Given the description of an element on the screen output the (x, y) to click on. 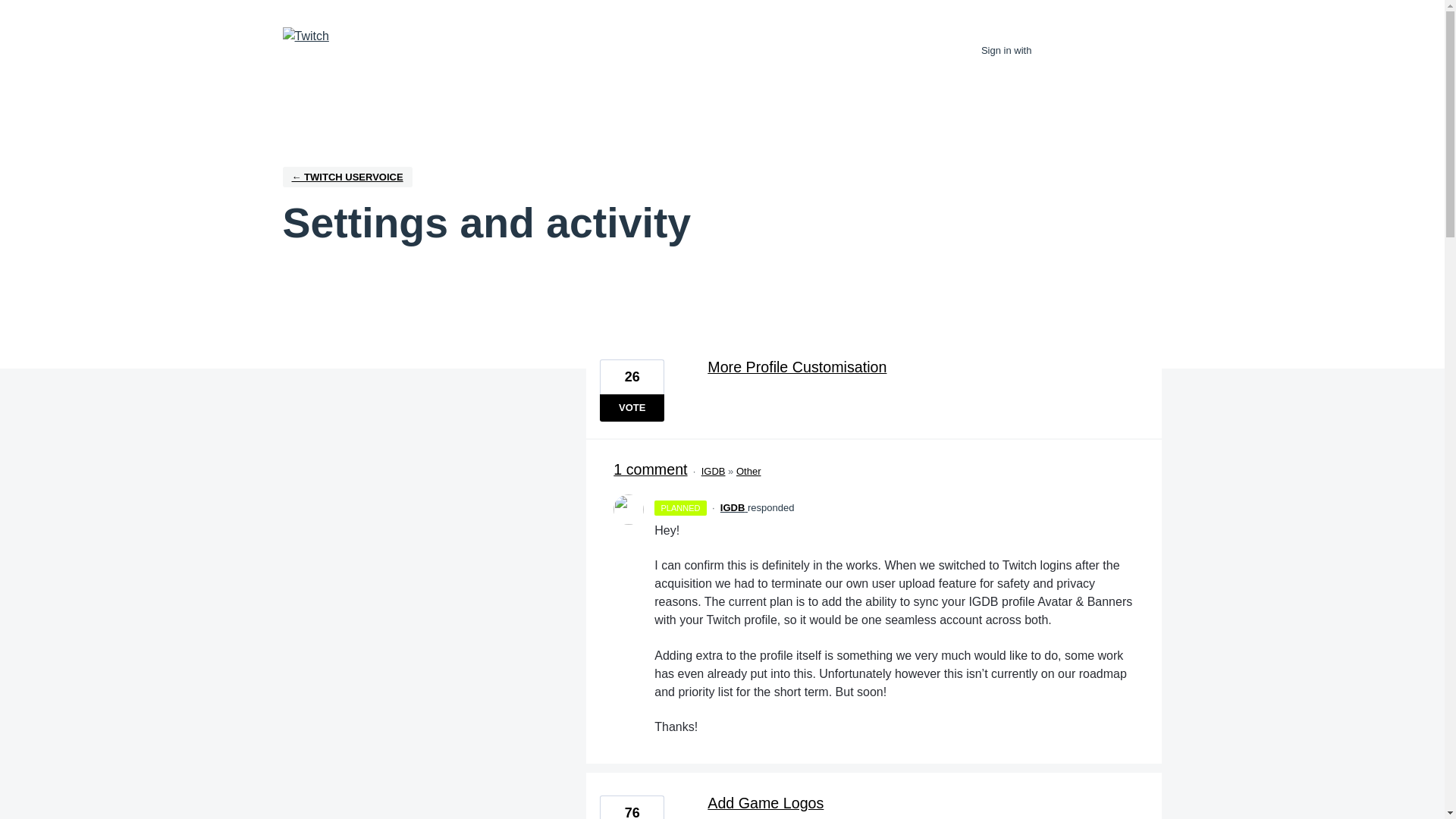
VOTE (631, 407)
IGDB (713, 471)
IGDB (734, 507)
Twitch UserVoice (305, 36)
PLANNED (679, 507)
This idea is Planned - updated about 4 years ago (679, 507)
1 comment (649, 469)
Other (748, 471)
Add Game Logos (920, 802)
Twitch UserVoice (347, 177)
